Given the description of an element on the screen output the (x, y) to click on. 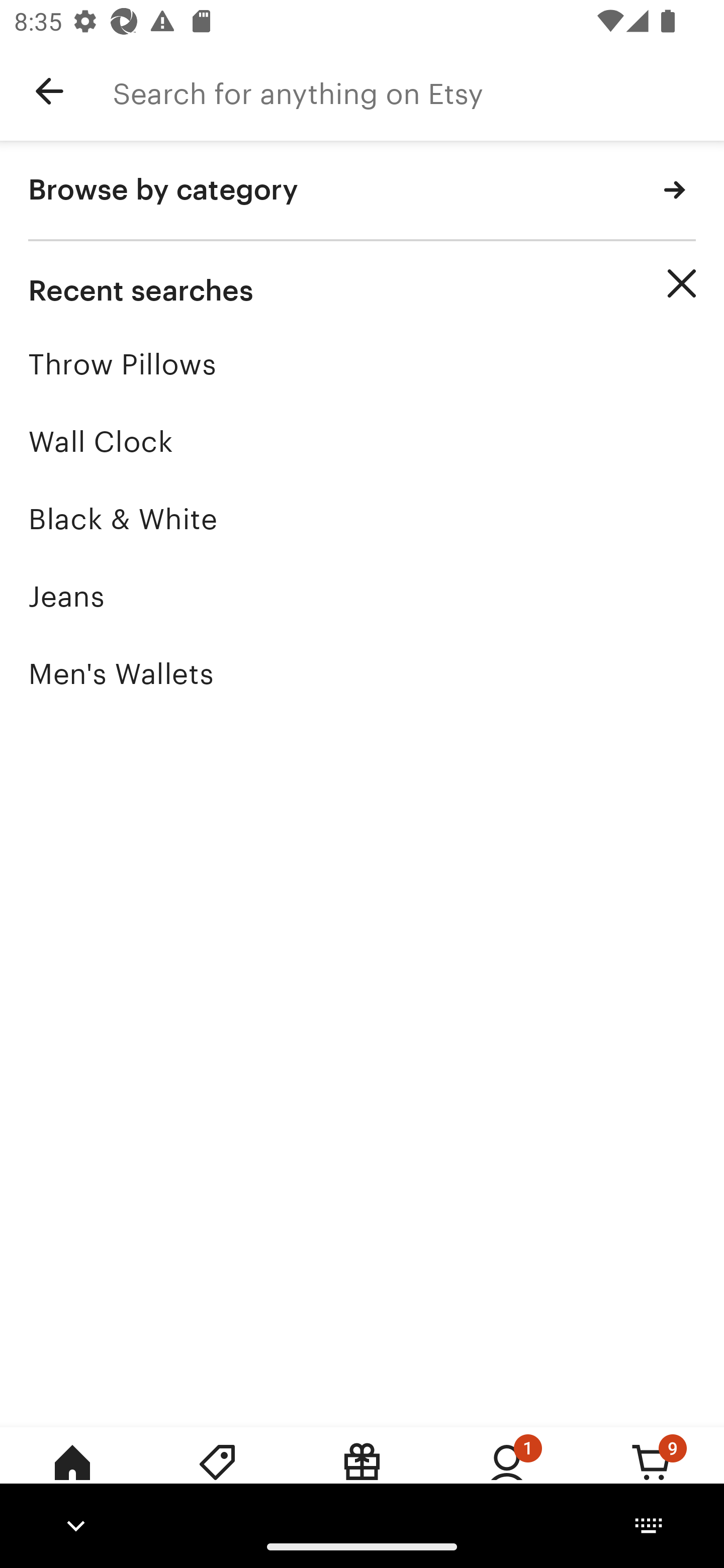
Navigate up (49, 91)
Search for anything on Etsy (418, 91)
Browse by category (362, 191)
Clear (681, 283)
Throw Pillows (362, 364)
Wall Clock (362, 440)
Black & White (362, 518)
Jeans (362, 596)
Men's Wallets (362, 673)
Deals (216, 1475)
Gift Mode (361, 1475)
You, 1 new notification (506, 1475)
Cart, 9 new notifications (651, 1475)
